Given the description of an element on the screen output the (x, y) to click on. 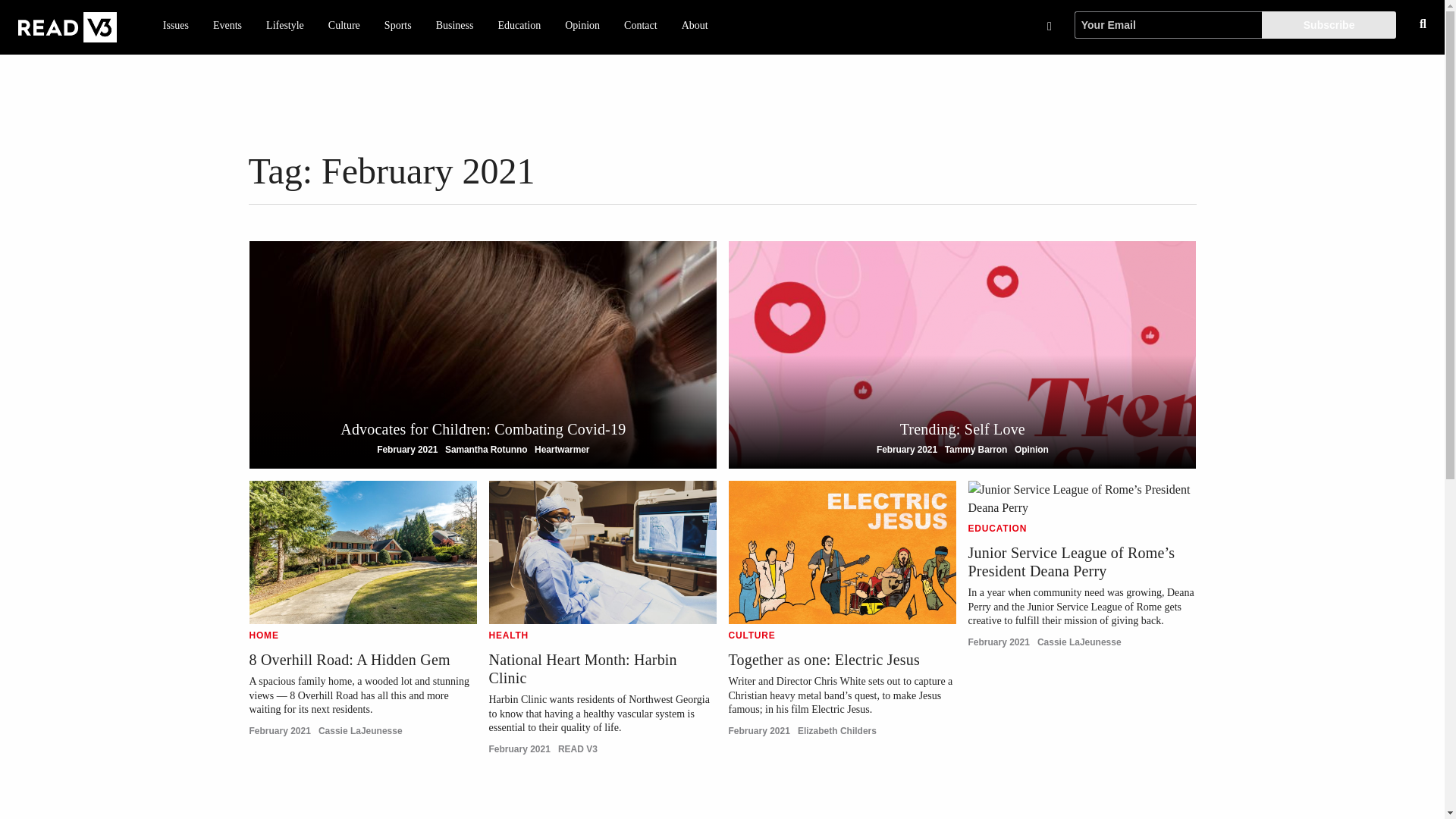
Culture (343, 25)
About (694, 25)
Sports (397, 25)
Issues (175, 25)
8 Overhill Road: A Hidden Gem (348, 659)
Education (518, 25)
Contact (640, 25)
Subscribe (1329, 24)
Business (454, 25)
National Heart Month: Harbin Clinic (582, 668)
Opinion (961, 354)
Events (582, 25)
Subscribe (226, 25)
